Given the description of an element on the screen output the (x, y) to click on. 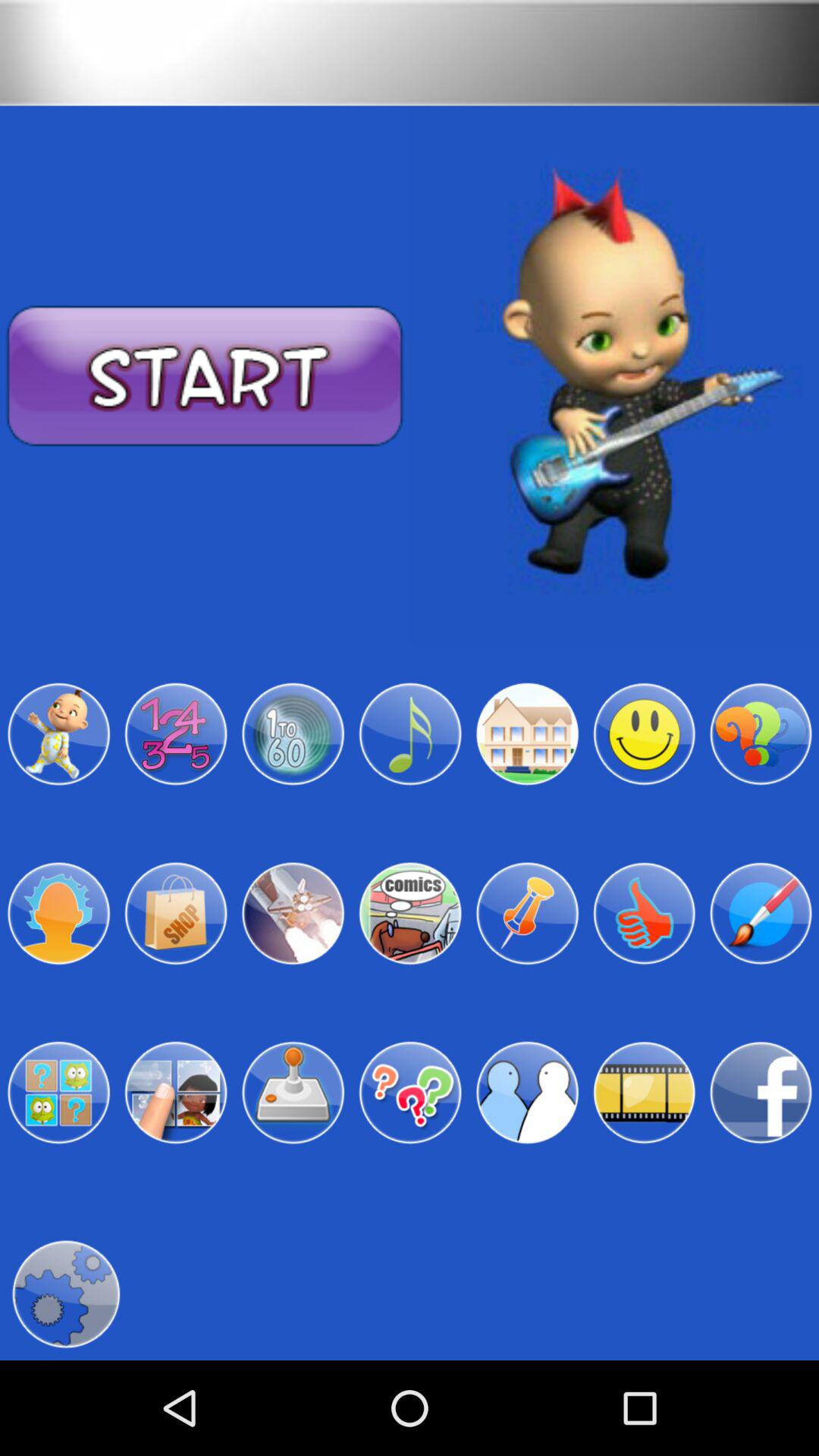
toggle settings (65, 1294)
